Given the description of an element on the screen output the (x, y) to click on. 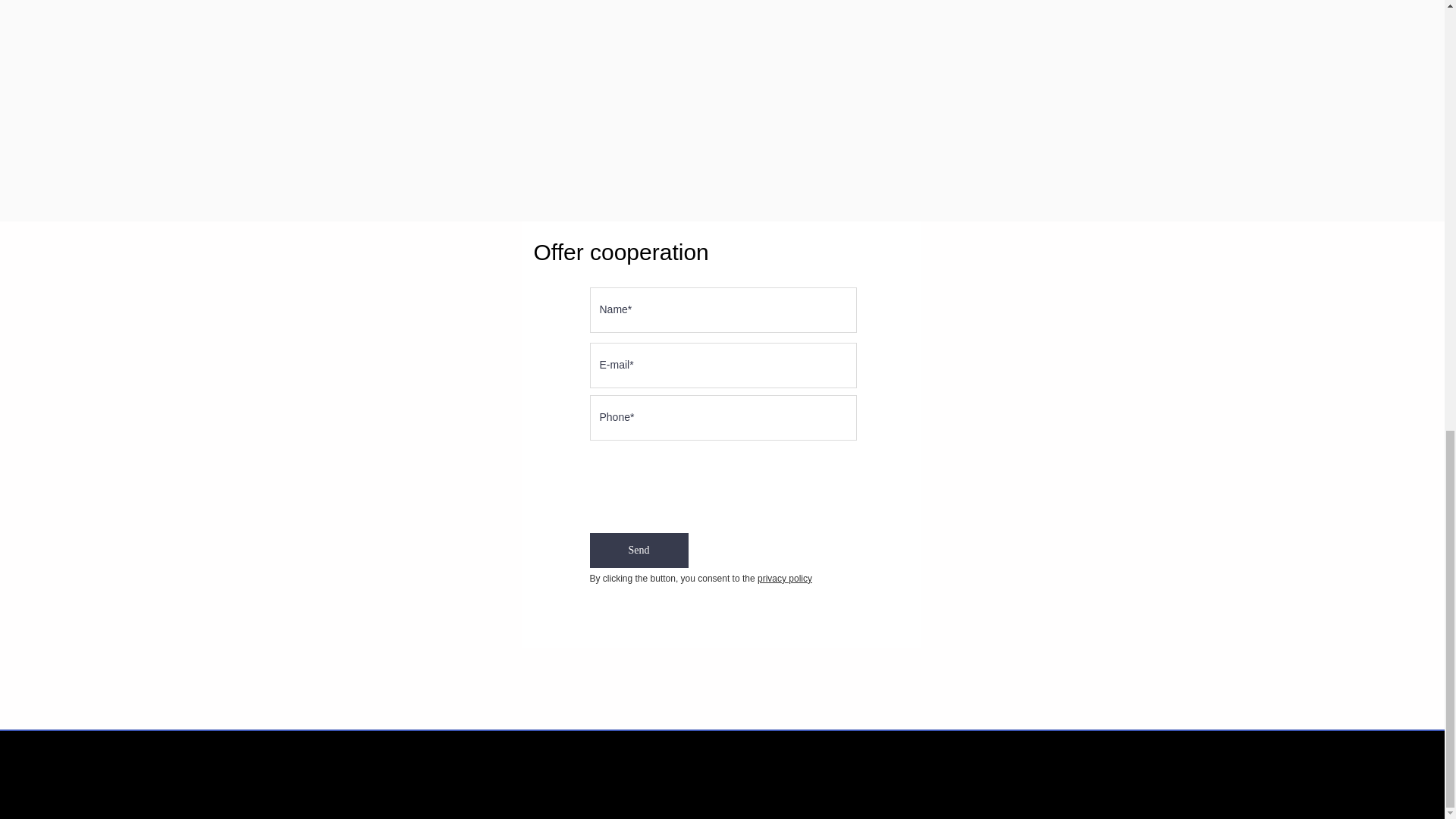
privacy policy (784, 578)
Send (638, 550)
